Given the description of an element on the screen output the (x, y) to click on. 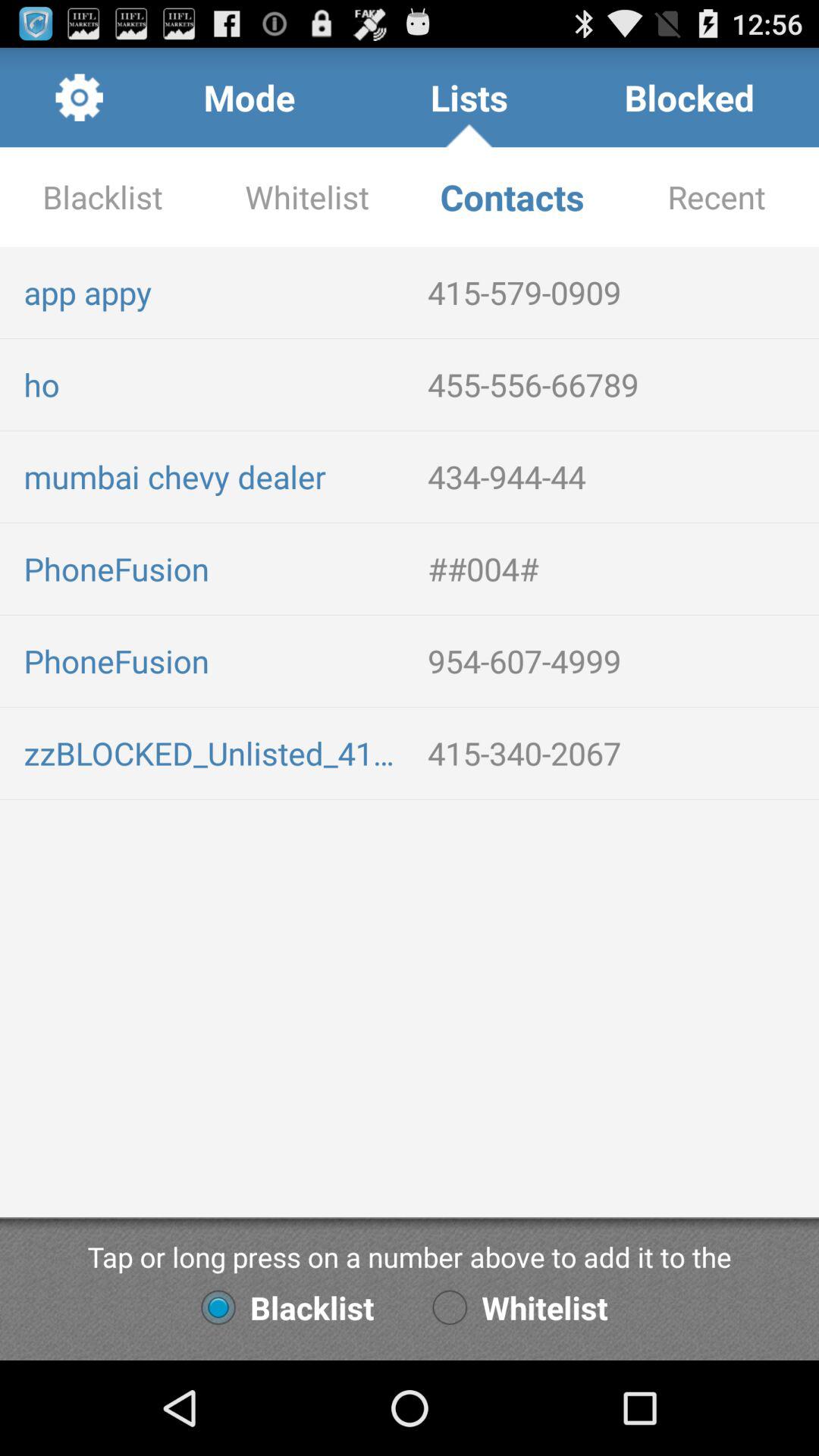
choose icon above tap or long item (617, 752)
